Given the description of an element on the screen output the (x, y) to click on. 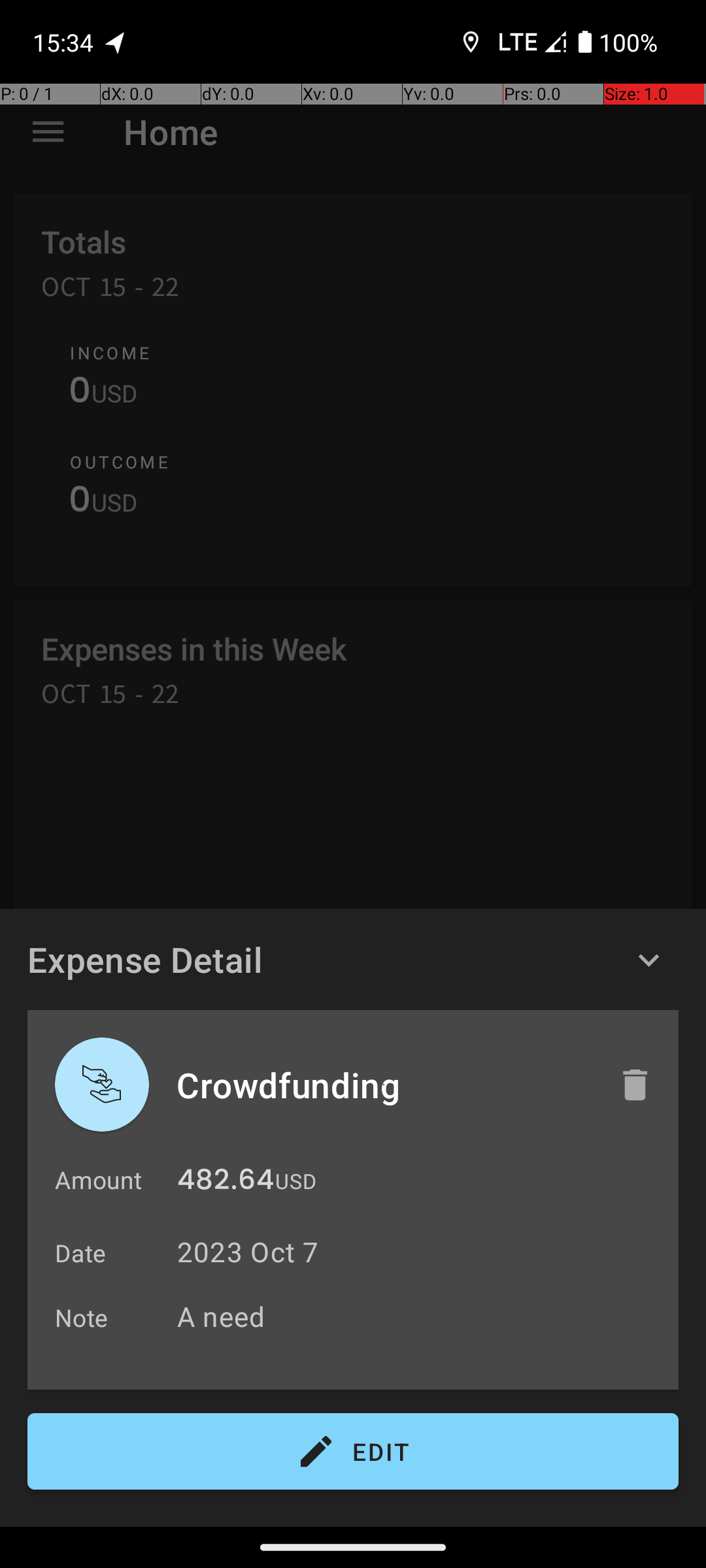
Crowdfunding Element type: android.widget.TextView (383, 1084)
482.64 Element type: android.widget.TextView (225, 1182)
